Given the description of an element on the screen output the (x, y) to click on. 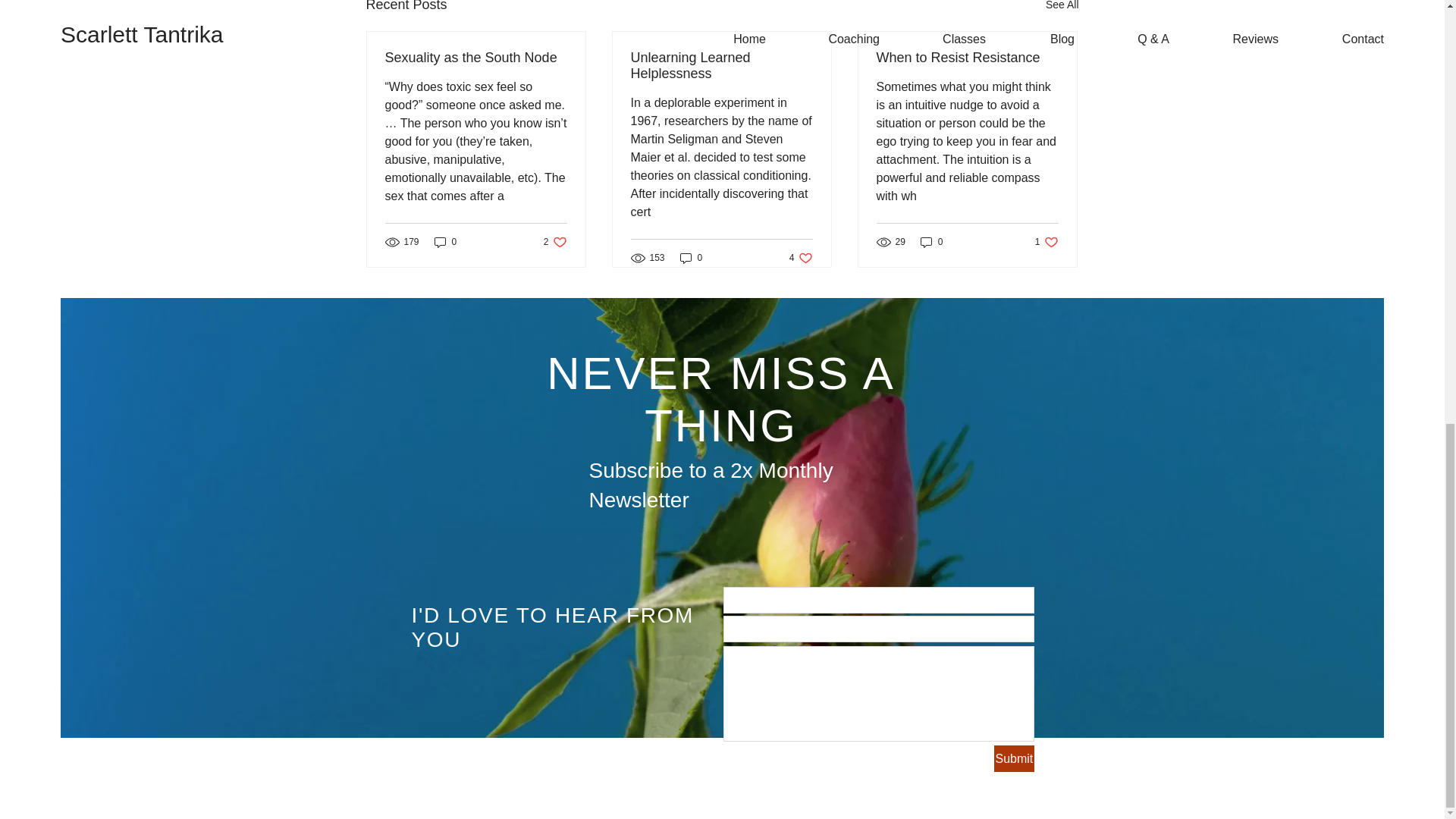
0 (800, 257)
Submit (1046, 242)
See All (691, 257)
Unlearning Learned Helplessness (1012, 758)
Sexuality as the South Node (1061, 7)
When to Resist Resistance (721, 65)
0 (476, 57)
0 (967, 57)
